Given the description of an element on the screen output the (x, y) to click on. 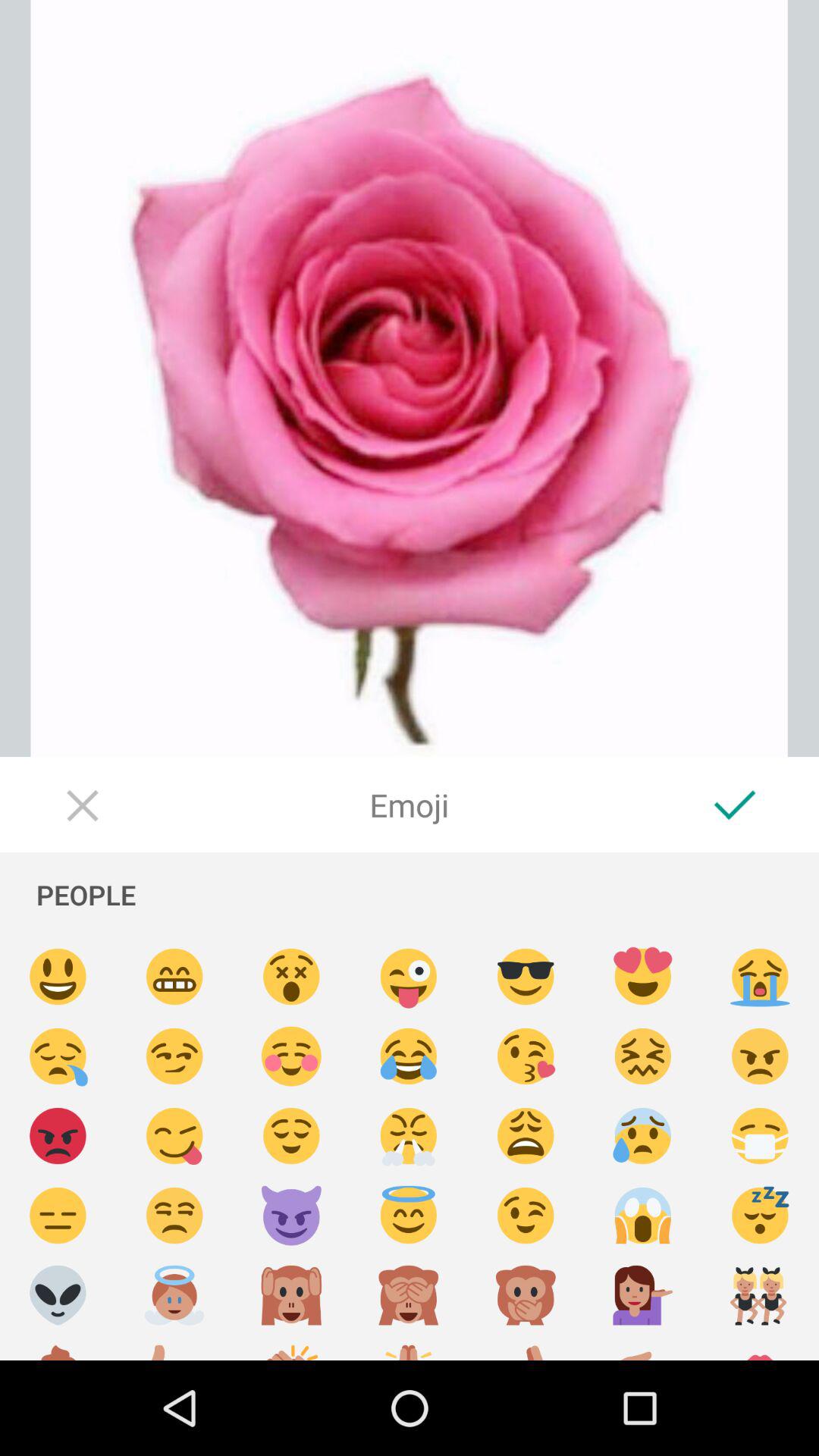
select emoji (642, 1136)
